Given the description of an element on the screen output the (x, y) to click on. 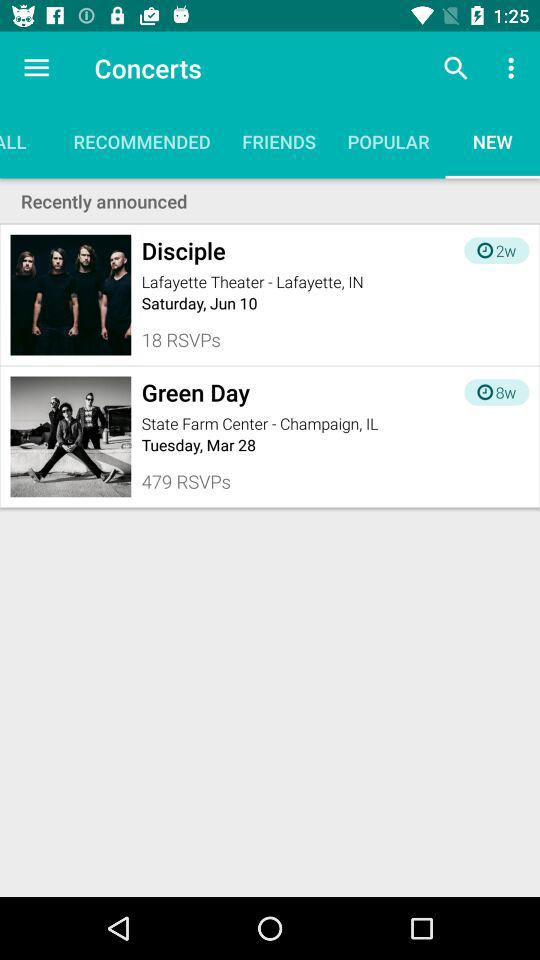
select icon to the right of the concerts item (455, 67)
